Given the description of an element on the screen output the (x, y) to click on. 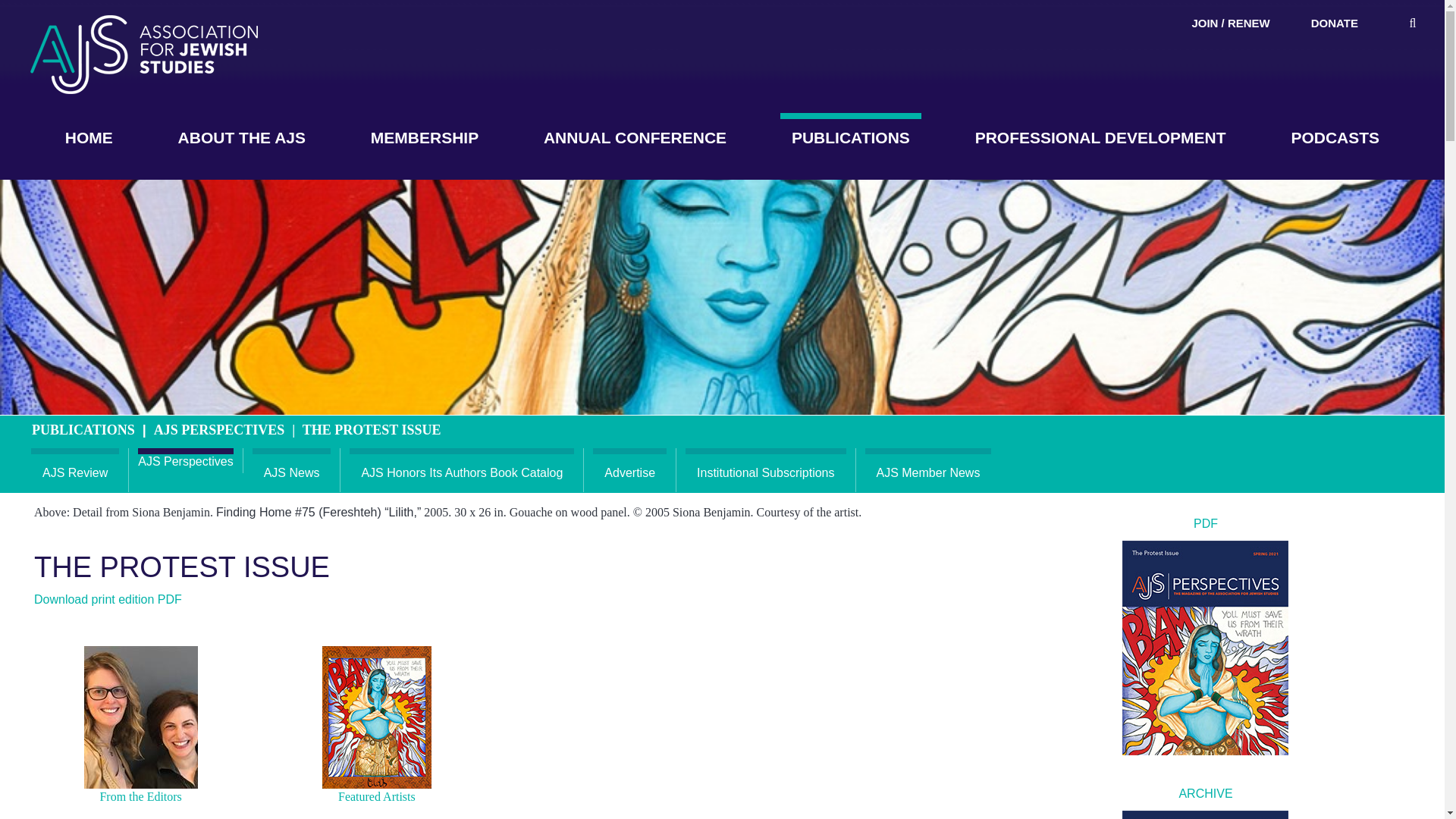
DONATE (1334, 23)
Association for Jewish Studies (143, 54)
MEMBERSHIP (424, 137)
ABOUT THE AJS (242, 137)
HOME (88, 137)
